Given the description of an element on the screen output the (x, y) to click on. 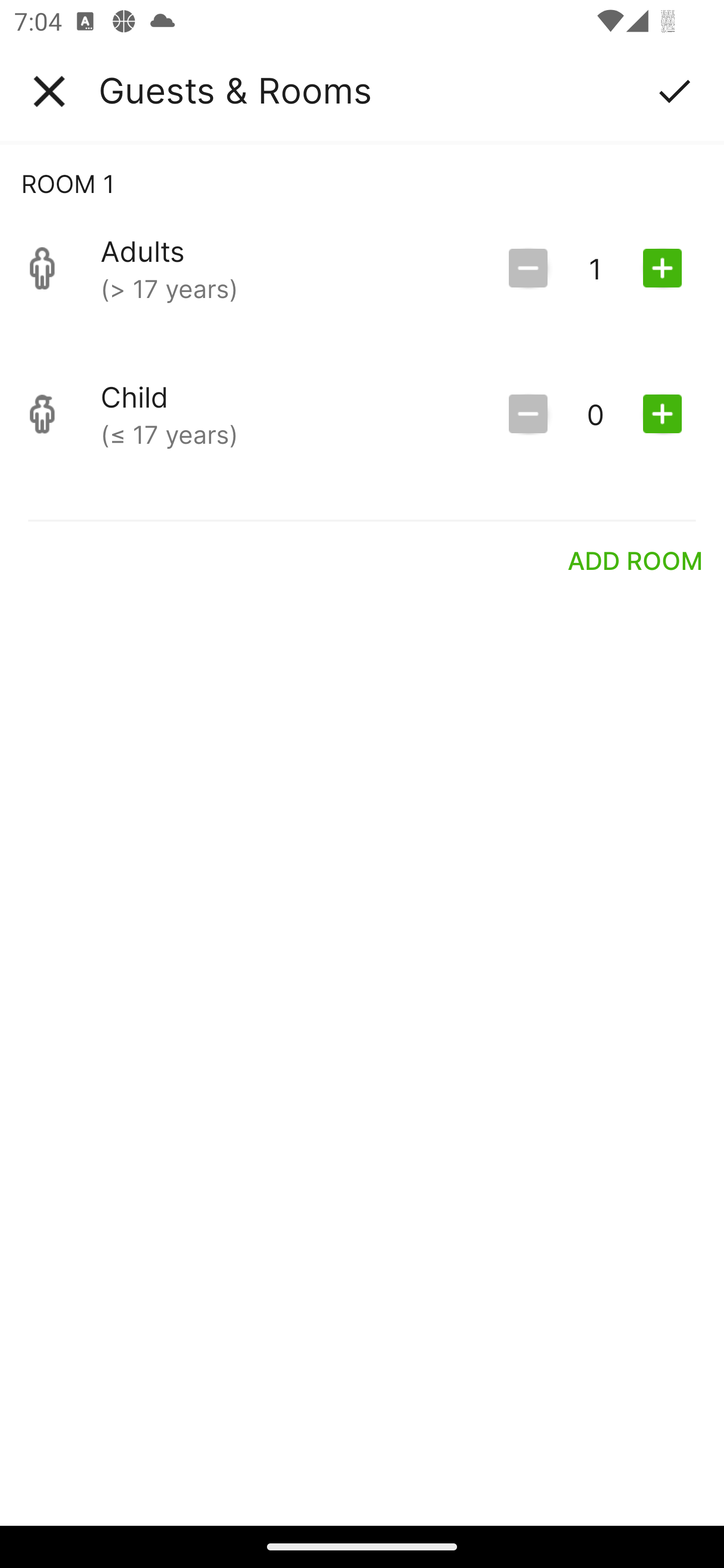
ADD ROOM (635, 560)
